Given the description of an element on the screen output the (x, y) to click on. 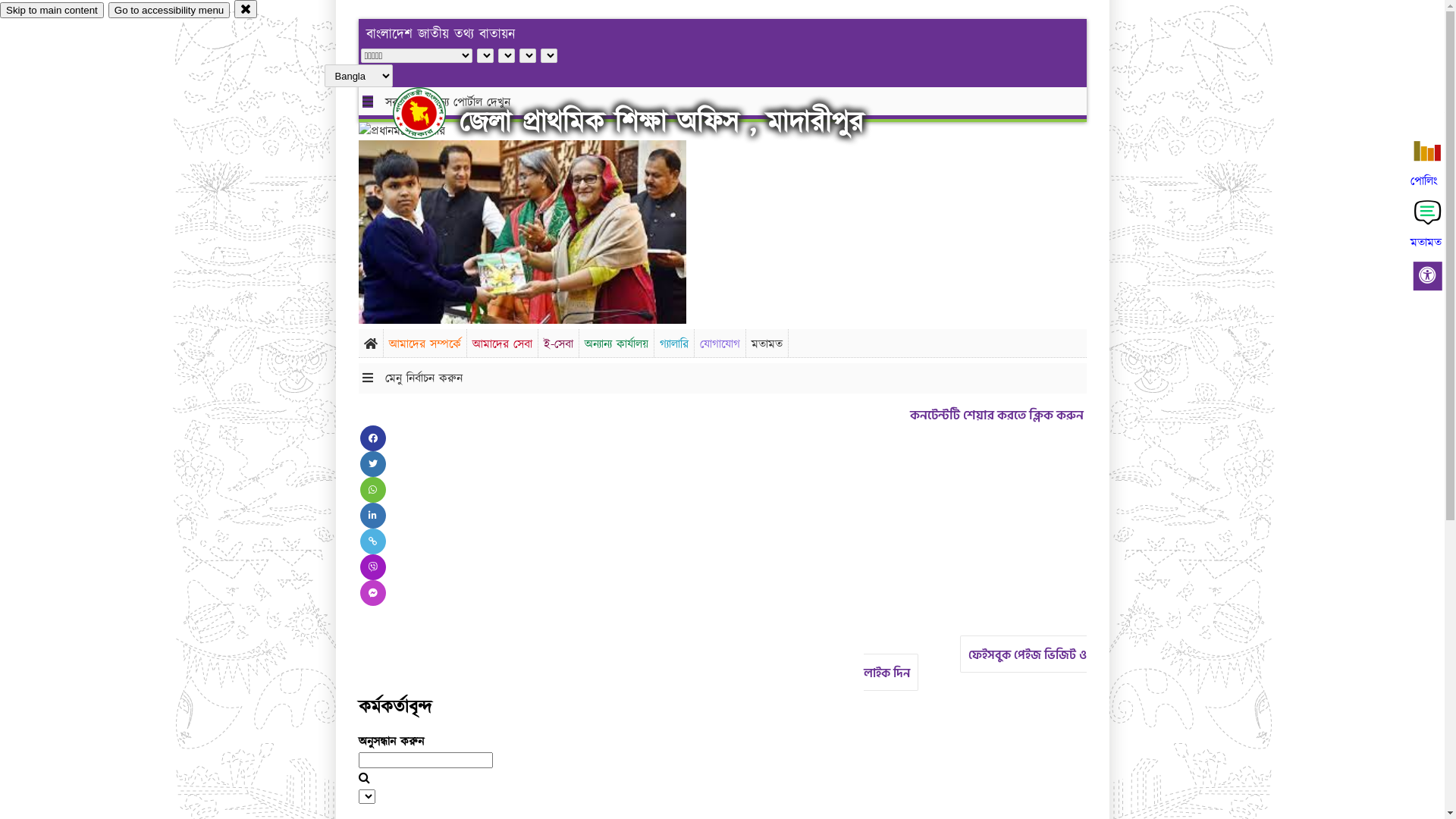

                
             Element type: hover (431, 112)
Go to accessibility menu Element type: text (168, 10)
Skip to main content Element type: text (51, 10)
close Element type: hover (245, 9)
